Given the description of an element on the screen output the (x, y) to click on. 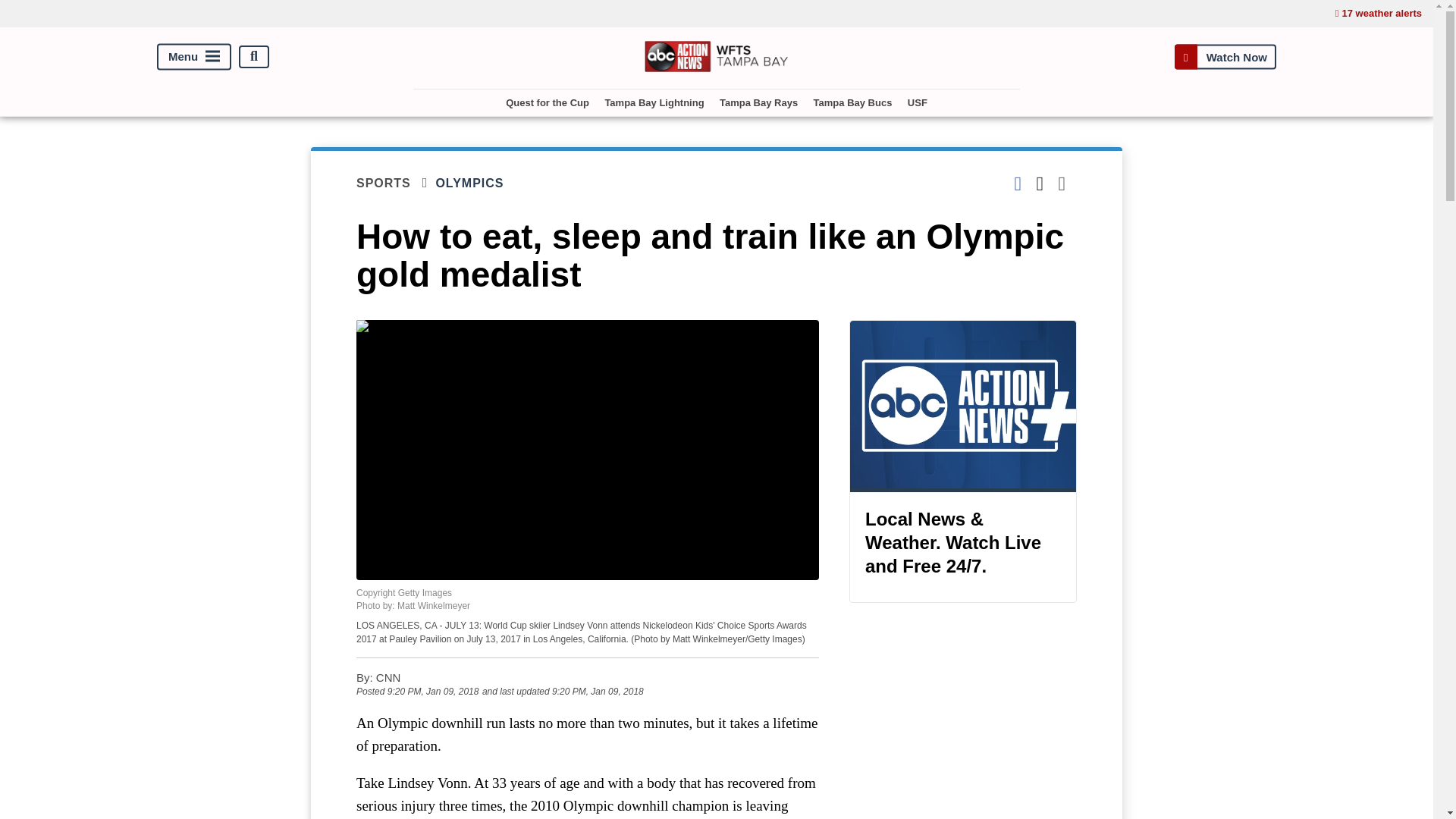
Menu (194, 56)
Watch Now (1224, 56)
